Given the description of an element on the screen output the (x, y) to click on. 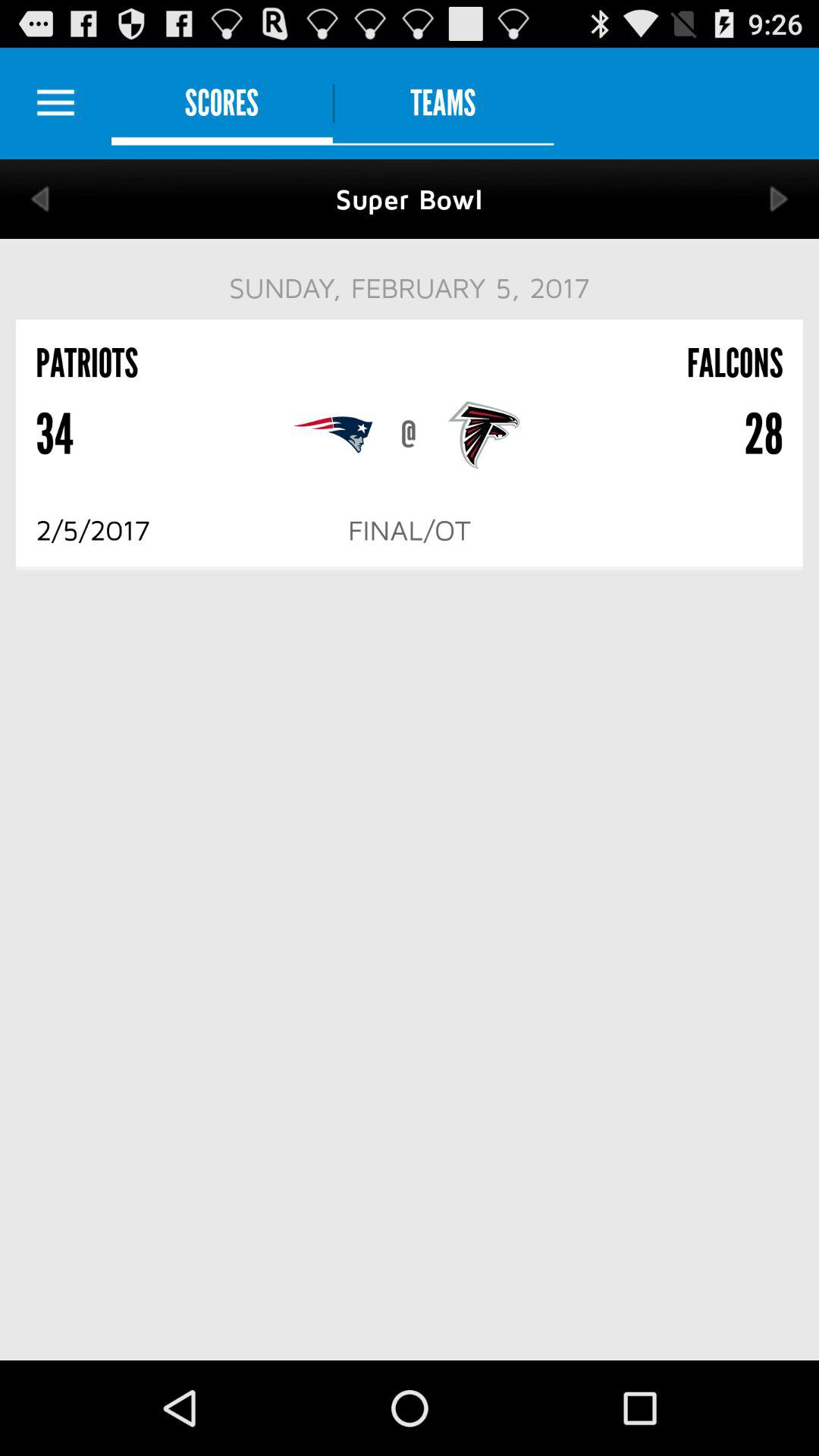
click to move forward (779, 198)
